Given the description of an element on the screen output the (x, y) to click on. 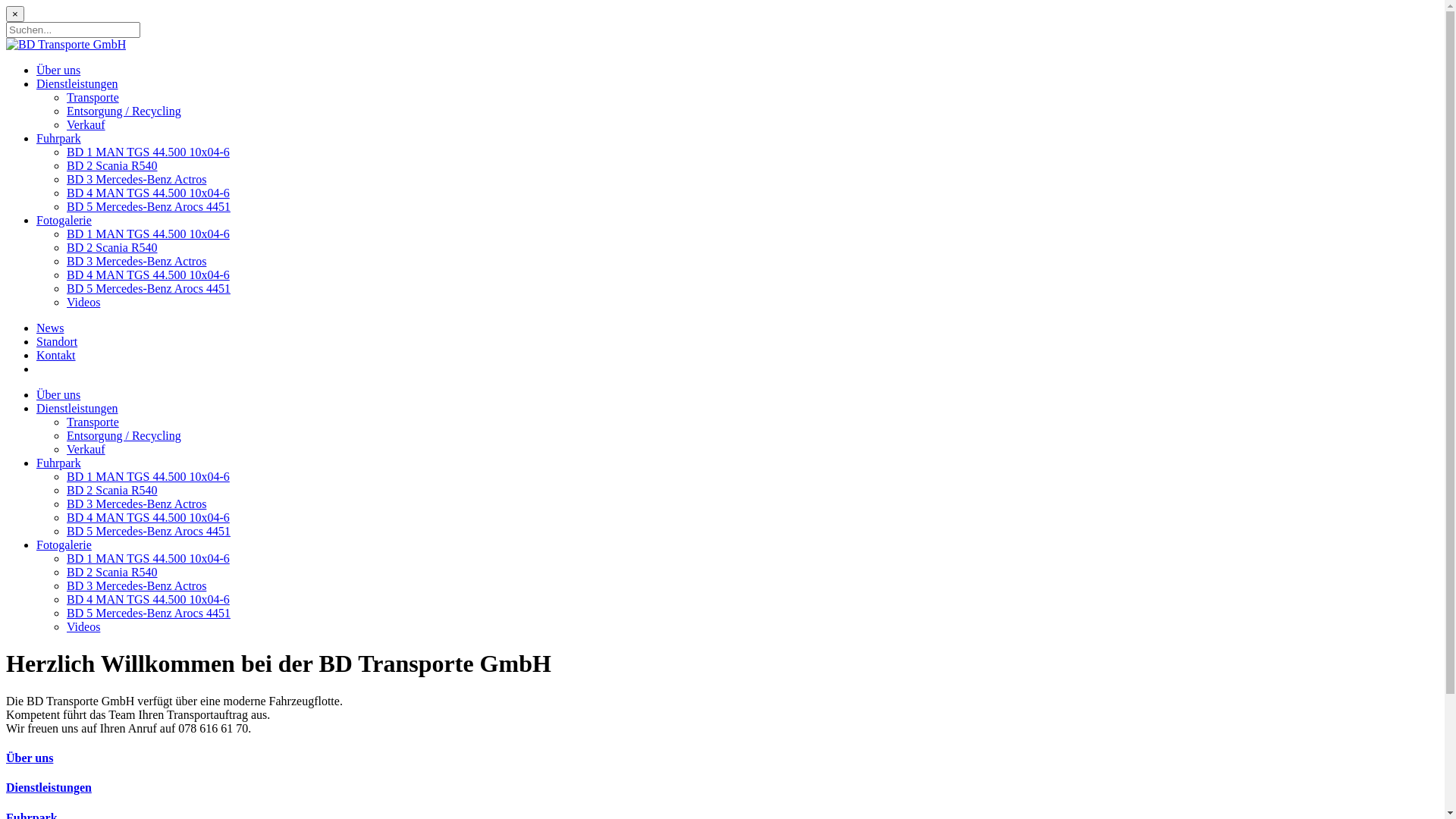
BD 2 Scania R540 Element type: text (111, 165)
News Element type: text (49, 327)
BD 4 MAN TGS 44.500 10x04-6 Element type: text (147, 274)
BD 2 Scania R540 Element type: text (111, 489)
BD 2 Scania R540 Element type: text (111, 571)
Videos Element type: text (83, 626)
BD 1 MAN TGS 44.500 10x04-6 Element type: text (147, 233)
Transporte Element type: text (92, 421)
BD 4 MAN TGS 44.500 10x04-6 Element type: text (147, 599)
BD 5 Mercedes-Benz Arocs 4451 Element type: text (148, 206)
BD 2 Scania R540 Element type: text (111, 247)
Entsorgung / Recycling Element type: text (123, 435)
BD 5 Mercedes-Benz Arocs 4451 Element type: text (148, 530)
Verkauf Element type: text (85, 448)
Entsorgung / Recycling Element type: text (123, 110)
Fuhrpark Element type: text (58, 137)
BD 3 Mercedes-Benz Actros Element type: text (136, 260)
BD 4 MAN TGS 44.500 10x04-6 Element type: text (147, 192)
BD 5 Mercedes-Benz Arocs 4451 Element type: text (148, 288)
Kontakt Element type: text (55, 354)
Videos Element type: text (83, 301)
BD 1 MAN TGS 44.500 10x04-6 Element type: text (147, 151)
BD 3 Mercedes-Benz Actros Element type: text (136, 503)
BD 3 Mercedes-Benz Actros Element type: text (136, 178)
BD 3 Mercedes-Benz Actros Element type: text (136, 585)
Dienstleistungen Element type: text (77, 83)
Fotogalerie Element type: text (63, 219)
BD 1 MAN TGS 44.500 10x04-6 Element type: text (147, 476)
BD 4 MAN TGS 44.500 10x04-6 Element type: text (147, 517)
Fotogalerie Element type: text (63, 544)
BD 5 Mercedes-Benz Arocs 4451 Element type: text (148, 612)
Transporte Element type: text (92, 97)
Verkauf Element type: text (85, 124)
Dienstleistungen Element type: text (77, 407)
Dienstleistungen Element type: text (722, 787)
BD 1 MAN TGS 44.500 10x04-6 Element type: text (147, 558)
Standort Element type: text (56, 341)
Fuhrpark Element type: text (58, 462)
